Given the description of an element on the screen output the (x, y) to click on. 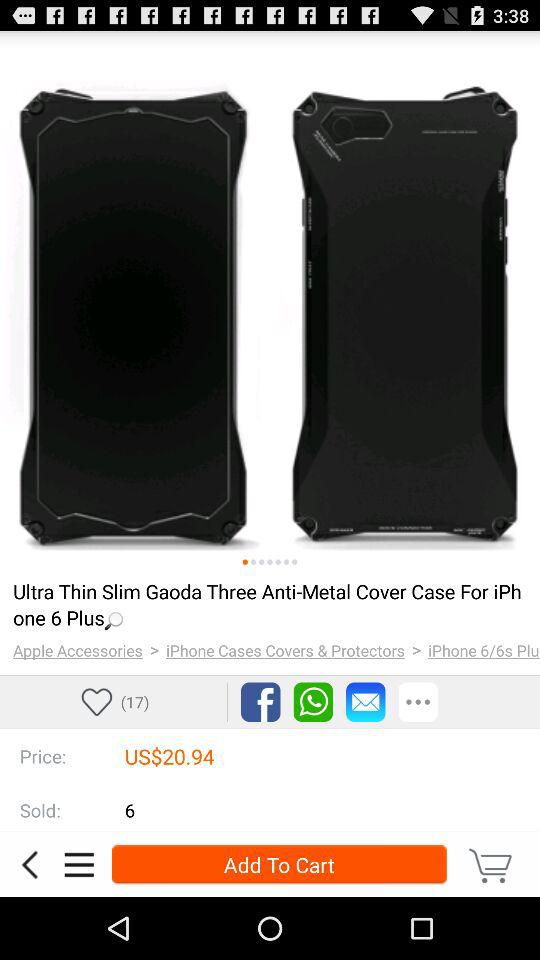
go to the last picture in the series (294, 561)
